Given the description of an element on the screen output the (x, y) to click on. 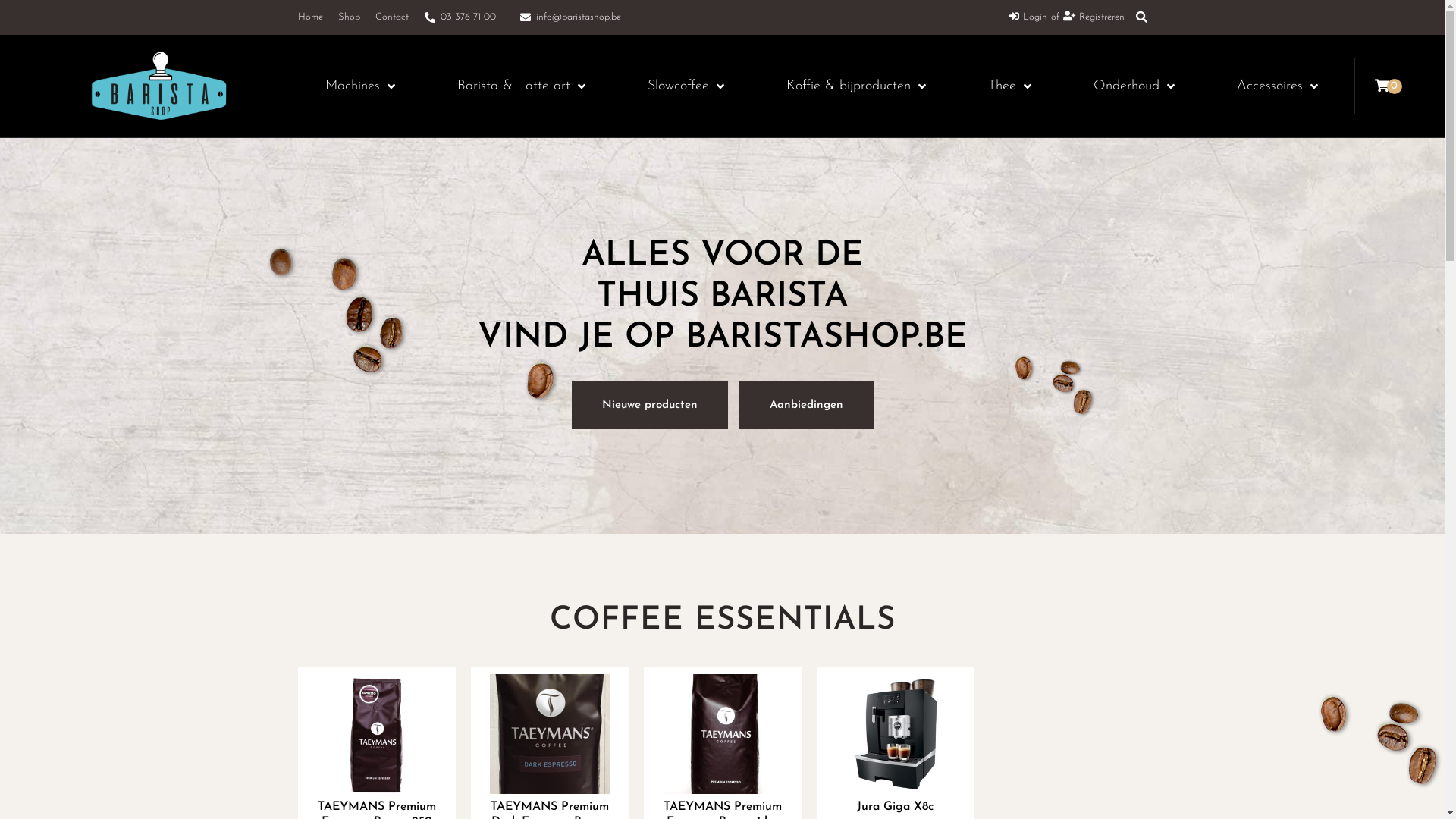
Registreren Element type: text (1093, 17)
0 Element type: text (1388, 86)
Slowcoffee Element type: text (691, 86)
Nieuwe producten Element type: text (649, 404)
Contact Element type: text (391, 17)
Login Element type: text (1027, 17)
Barista & Latte art Element type: text (527, 86)
Accessoires Element type: text (1283, 86)
Koffie & bijproducten Element type: text (862, 86)
Aanbiedingen Element type: text (805, 404)
Shop Element type: text (348, 17)
Jura Giga X8c Element type: text (894, 806)
Onderhoud Element type: text (1139, 86)
Machines Element type: text (366, 86)
Home Element type: text (309, 17)
info@baristashop.be Element type: text (569, 17)
Thee Element type: text (1015, 86)
